Given the description of an element on the screen output the (x, y) to click on. 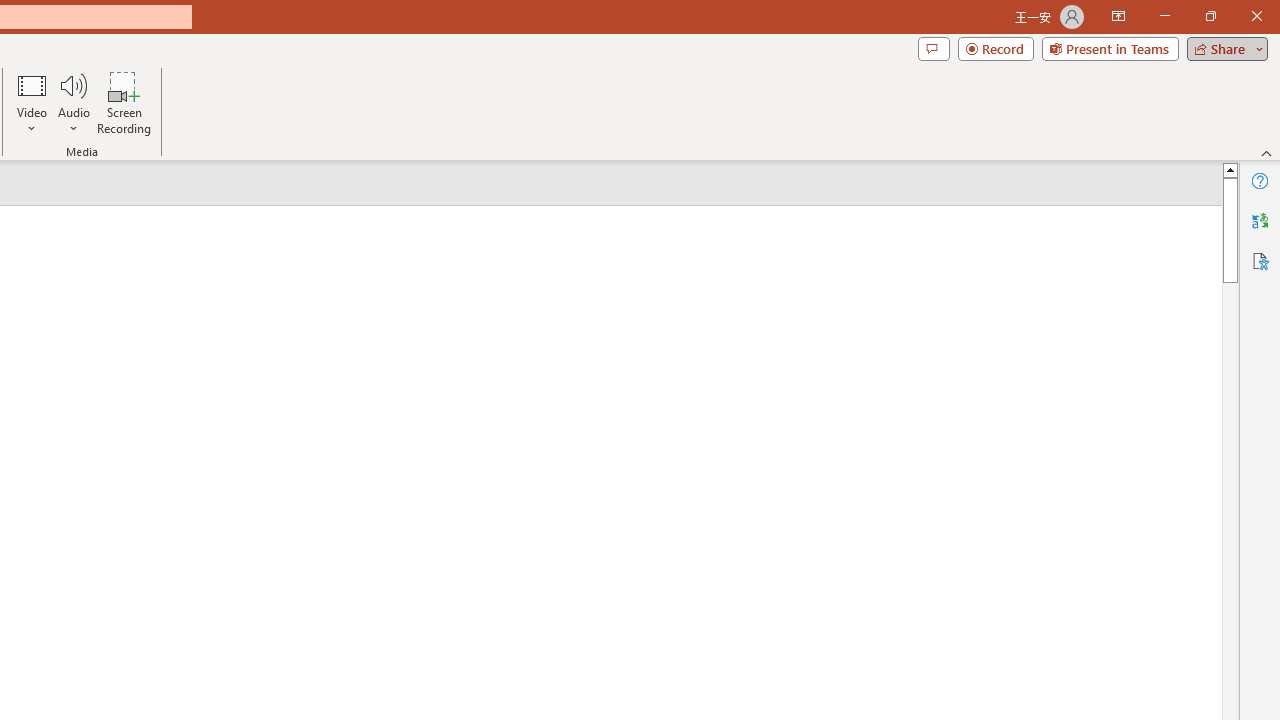
Screen Recording... (123, 102)
Video (31, 102)
